Given the description of an element on the screen output the (x, y) to click on. 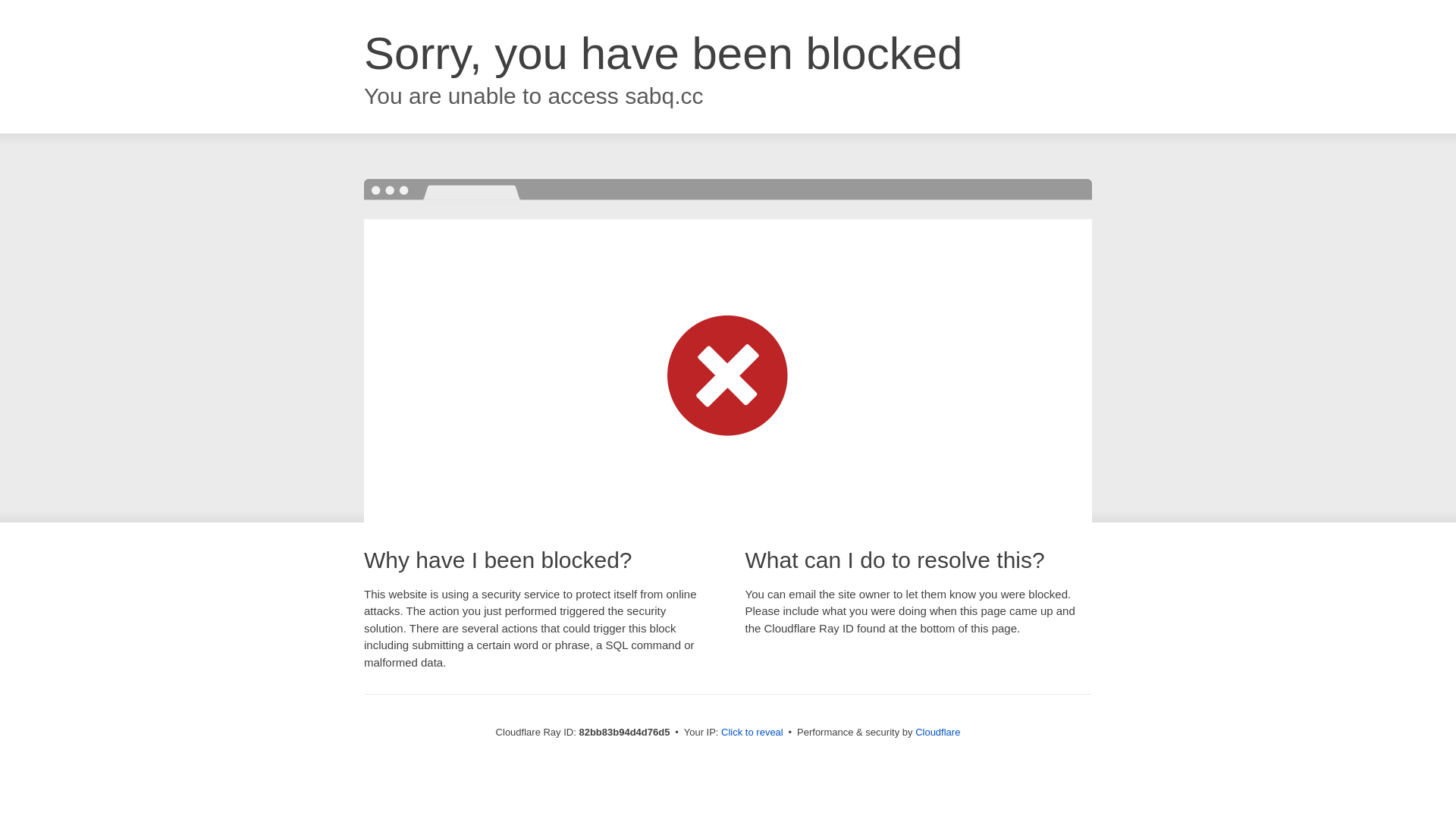
Click to reveal Element type: text (752, 732)
Cloudflare Element type: text (937, 731)
